Given the description of an element on the screen output the (x, y) to click on. 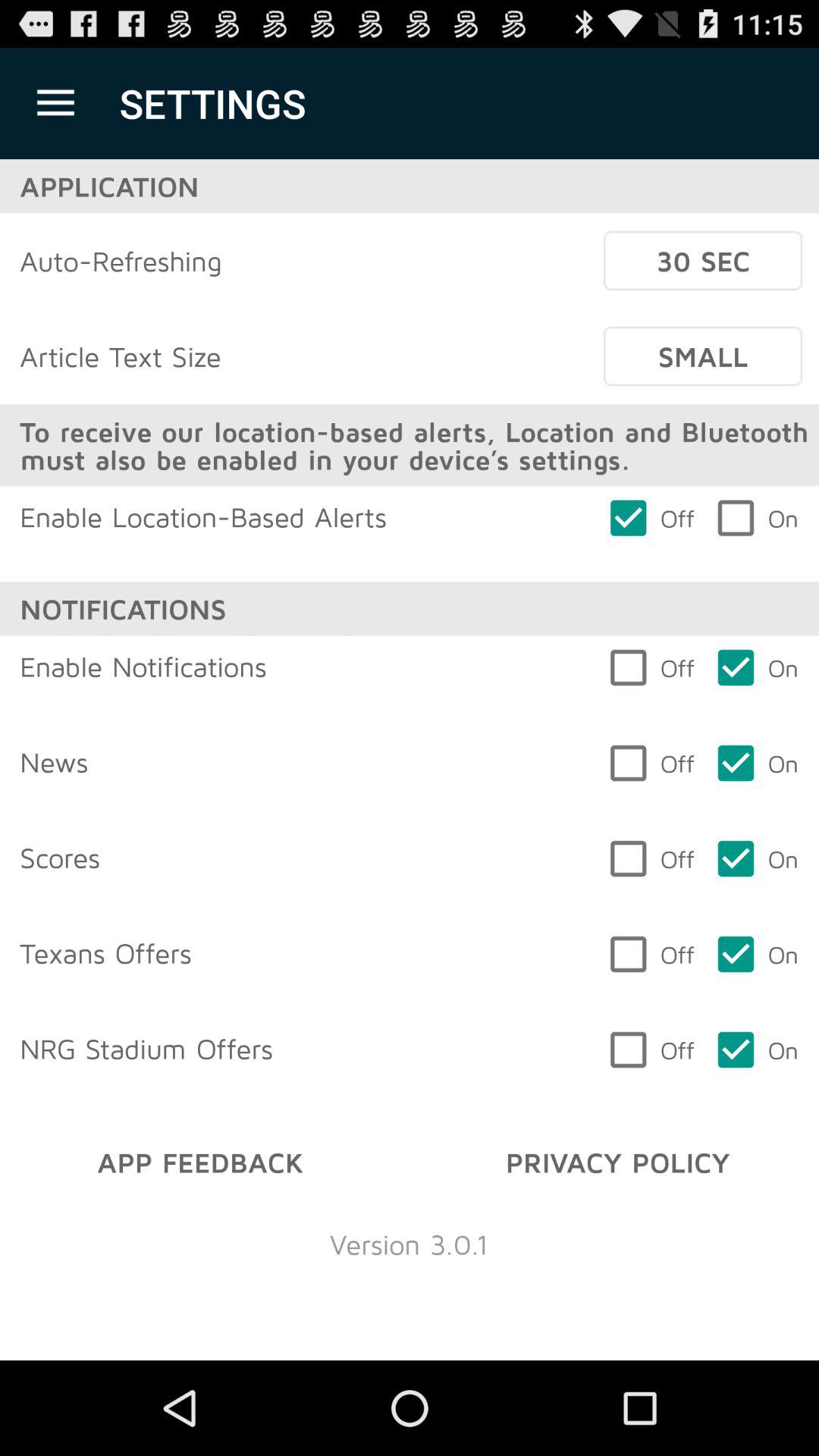
press item next to the settings (55, 103)
